Given the description of an element on the screen output the (x, y) to click on. 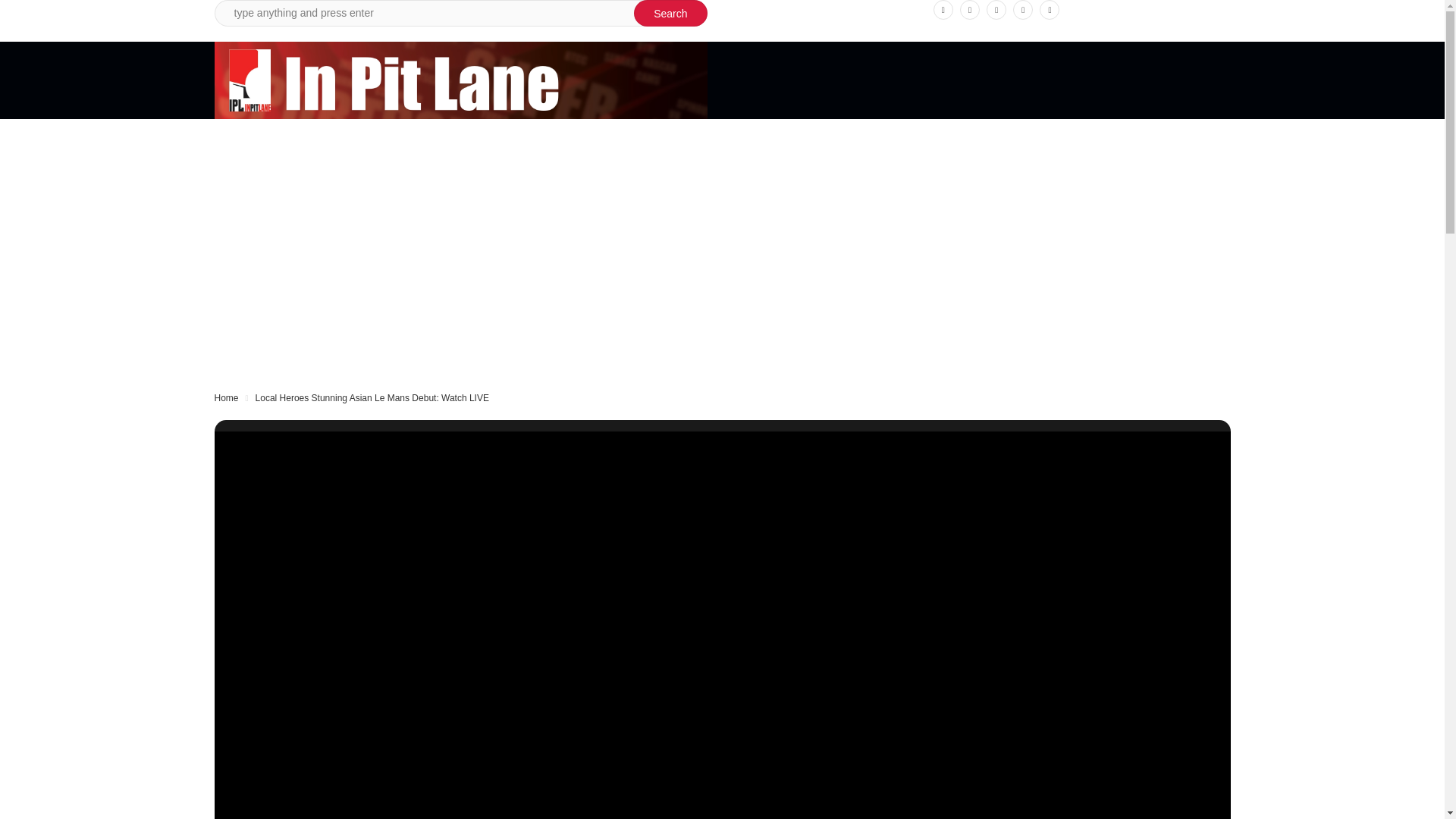
Search (669, 13)
Embed (1103, 447)
Search (669, 13)
Home (226, 398)
type anything and press enter (460, 13)
Search (669, 13)
